Given the description of an element on the screen output the (x, y) to click on. 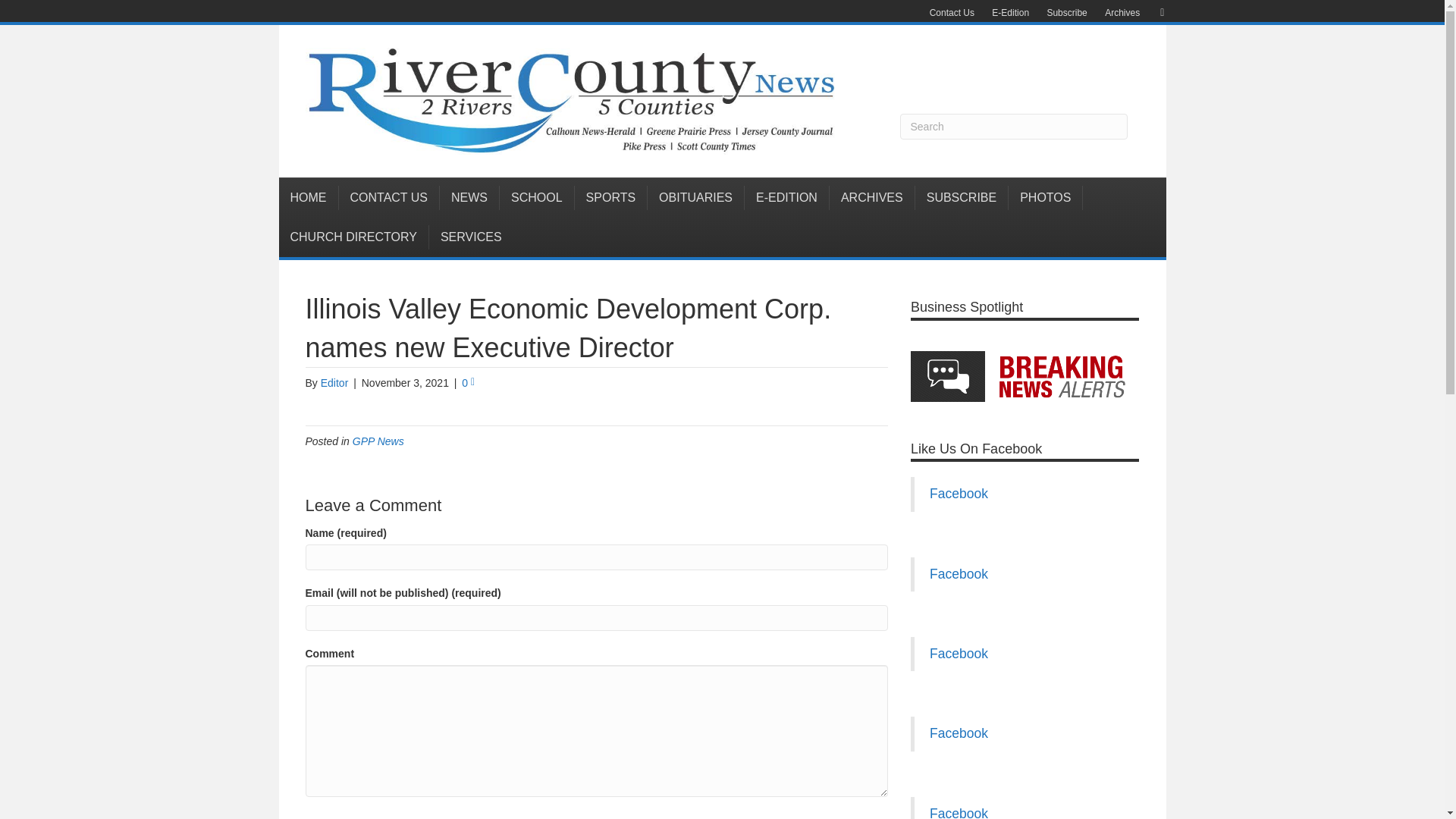
Subscribe (1066, 13)
Archives (1122, 13)
Email (1154, 11)
E-Edition (1010, 13)
NEWS (469, 197)
Contact Us (951, 13)
Type and press Enter to search. (1012, 126)
CONTACT US (388, 197)
HOME (309, 197)
